Given the description of an element on the screen output the (x, y) to click on. 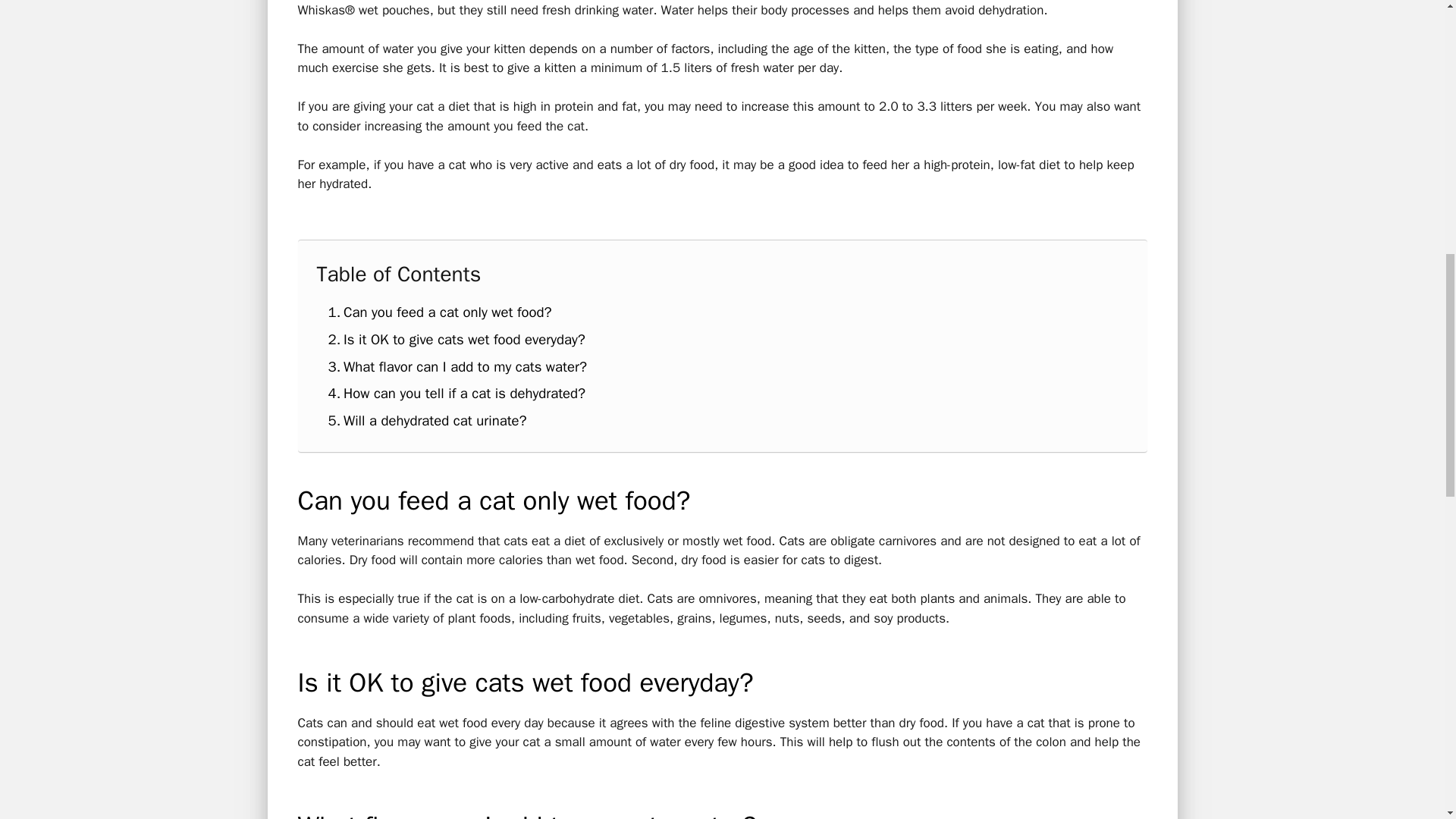
How can you tell if a cat is dehydrated? (456, 393)
Is it OK to give cats wet food everyday? (456, 339)
Will a dehydrated cat urinate? (426, 420)
What flavor can I add to my cats water? (456, 366)
Can you feed a cat only wet food? (439, 312)
